Given the description of an element on the screen output the (x, y) to click on. 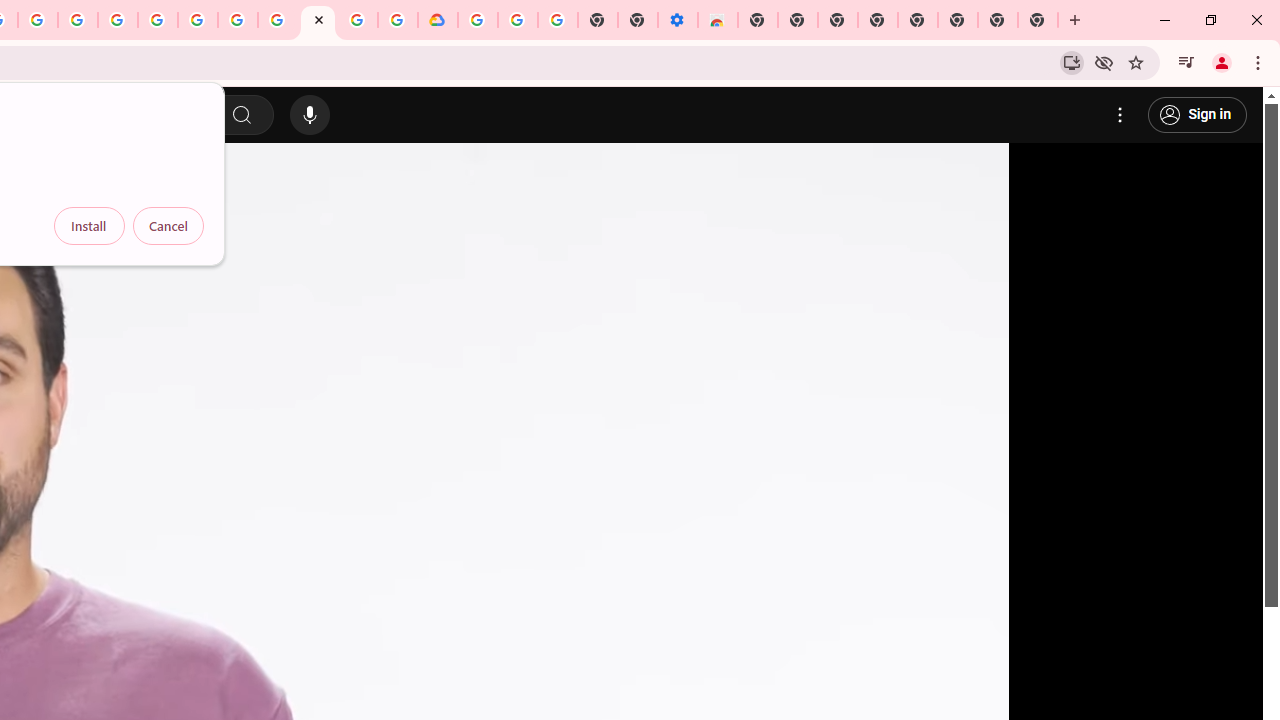
New Tab (1037, 20)
New Tab (758, 20)
Create your Google Account (357, 20)
Sign in - Google Accounts (157, 20)
Search with your voice (309, 115)
Cancel (168, 225)
Turn cookies on or off - Computer - Google Account Help (557, 20)
